Given the description of an element on the screen output the (x, y) to click on. 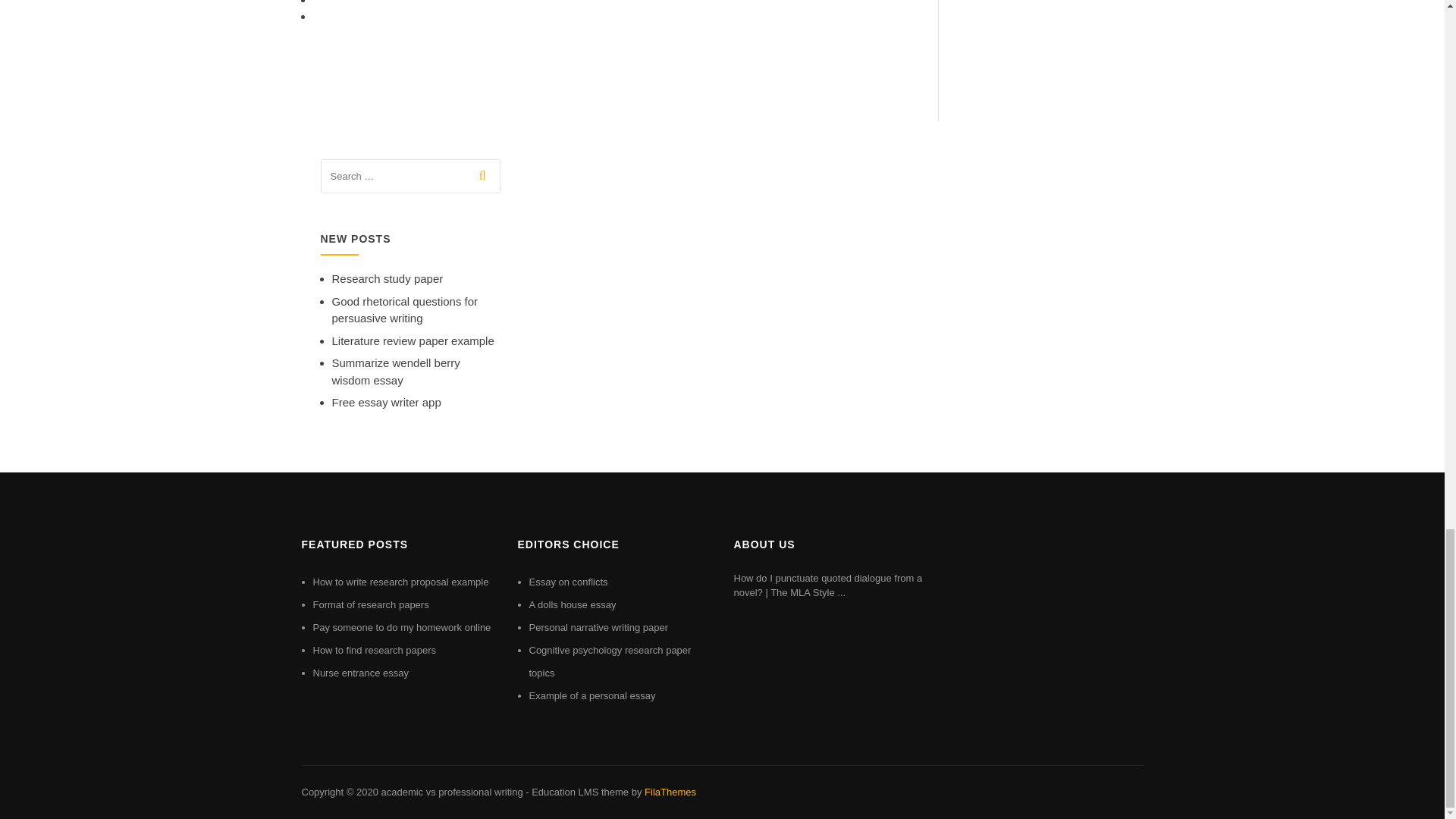
Nurse entrance essay (360, 672)
Research study paper (387, 278)
academic vs professional writing (451, 791)
Pay someone to do my homework online (401, 627)
Essay on conflicts (568, 582)
Personal narrative writing paper (598, 627)
How to write research proposal example (400, 582)
Example of a personal essay (592, 695)
How to find research papers (374, 650)
Good rhetorical questions for persuasive writing (405, 309)
